Given the description of an element on the screen output the (x, y) to click on. 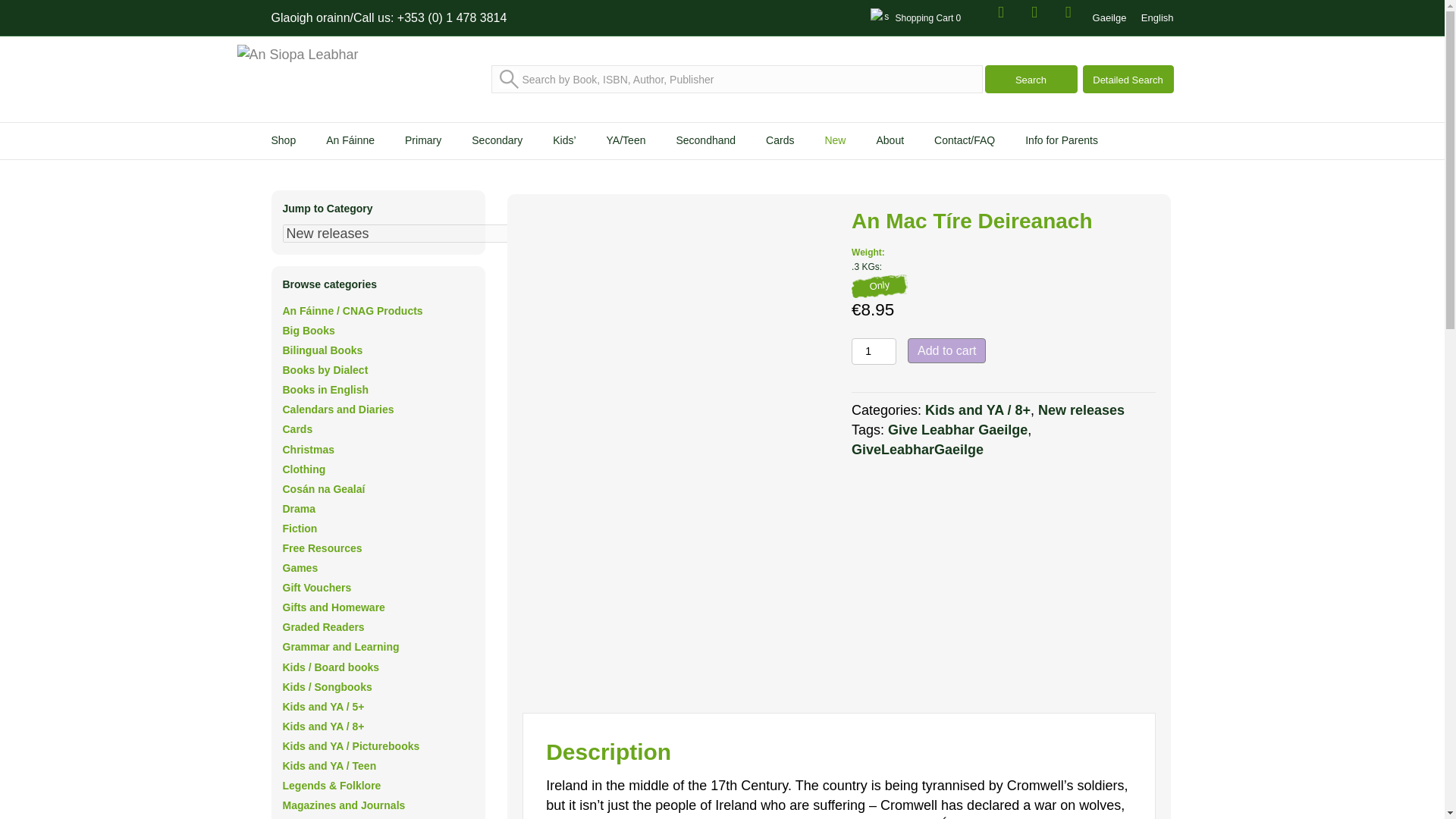
Twitter (1034, 12)
Info for Parents (1061, 140)
Search (1030, 79)
Primary (422, 140)
Secondhand (705, 140)
Facebook (1000, 12)
Instagram (1067, 12)
English (1157, 17)
Gaeilge (1109, 17)
Secondary (496, 140)
Gaeilge (1109, 17)
1 (873, 351)
Detailed Search (1128, 79)
Books by Dialect (325, 369)
Bilingual Books (322, 349)
